Given the description of an element on the screen output the (x, y) to click on. 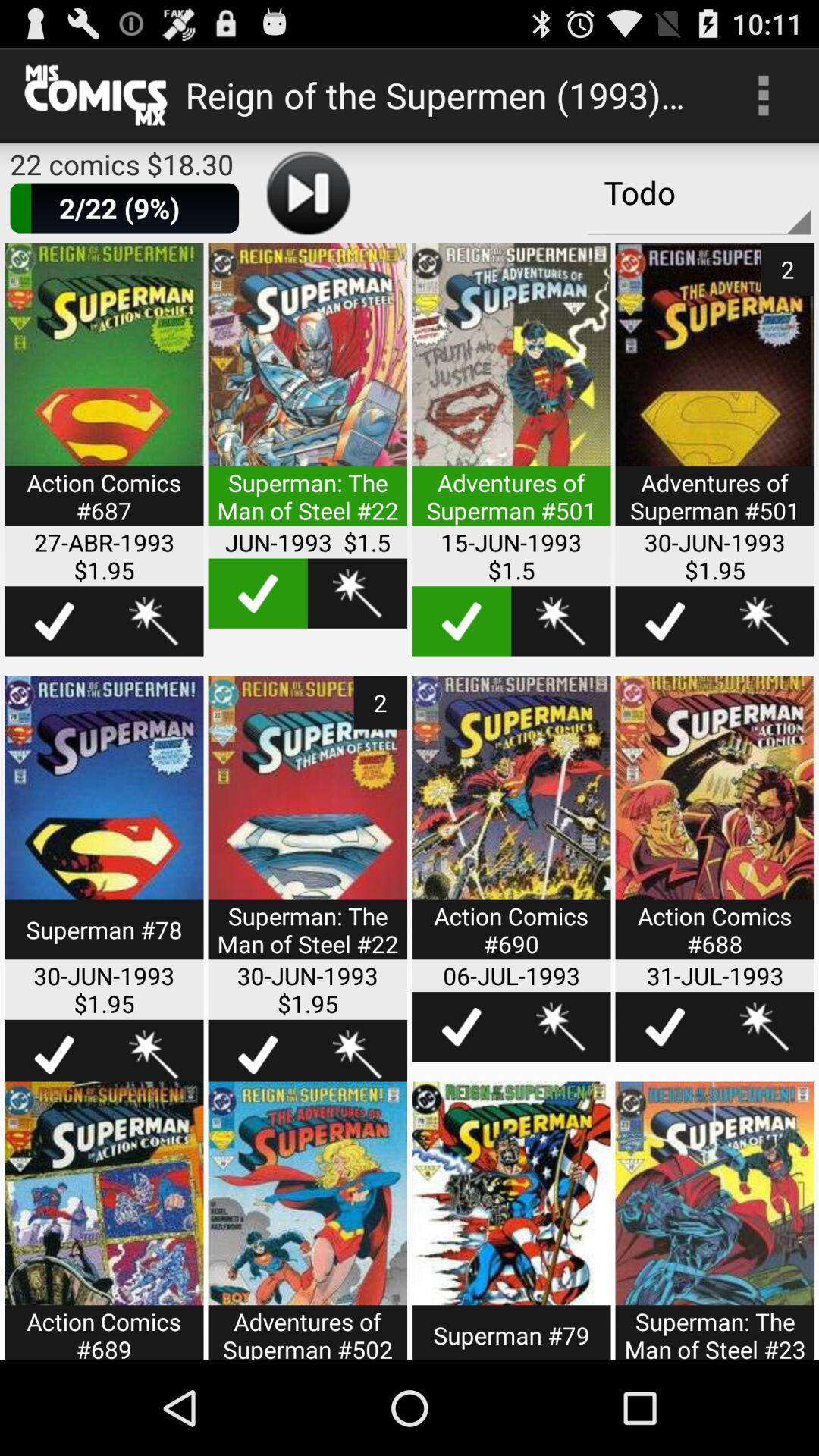
go to right buton (664, 621)
